Given the description of an element on the screen output the (x, y) to click on. 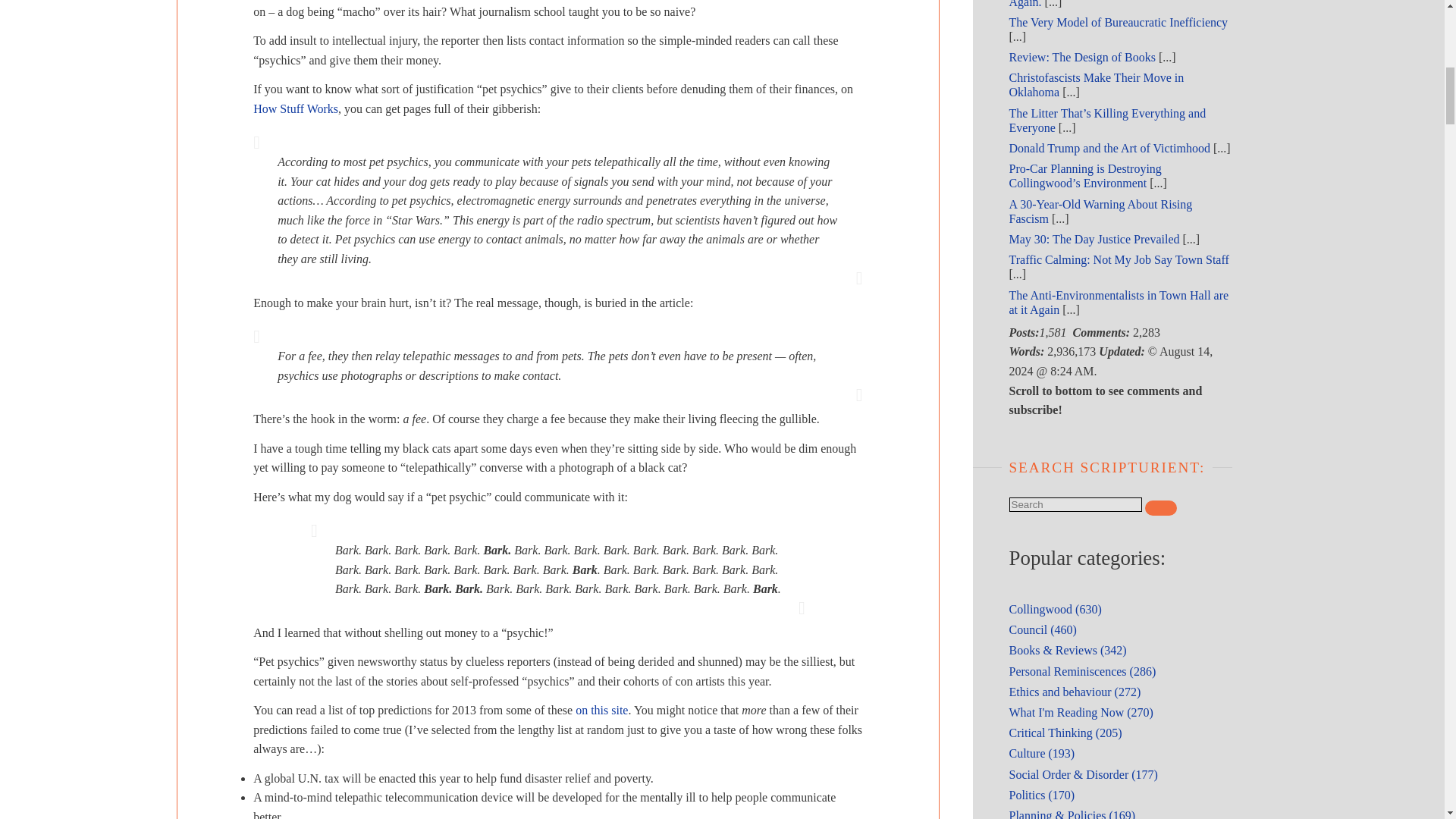
The Very Model of Bureaucratic Inefficiency (1118, 21)
Donald Trump and the Art of Victimhood (1109, 147)
Council Screws Collingwood Residents. Again. (1107, 3)
Review: The Design of Books (1081, 56)
Christofascists Make Their Move in Oklahoma (1096, 84)
